Given the description of an element on the screen output the (x, y) to click on. 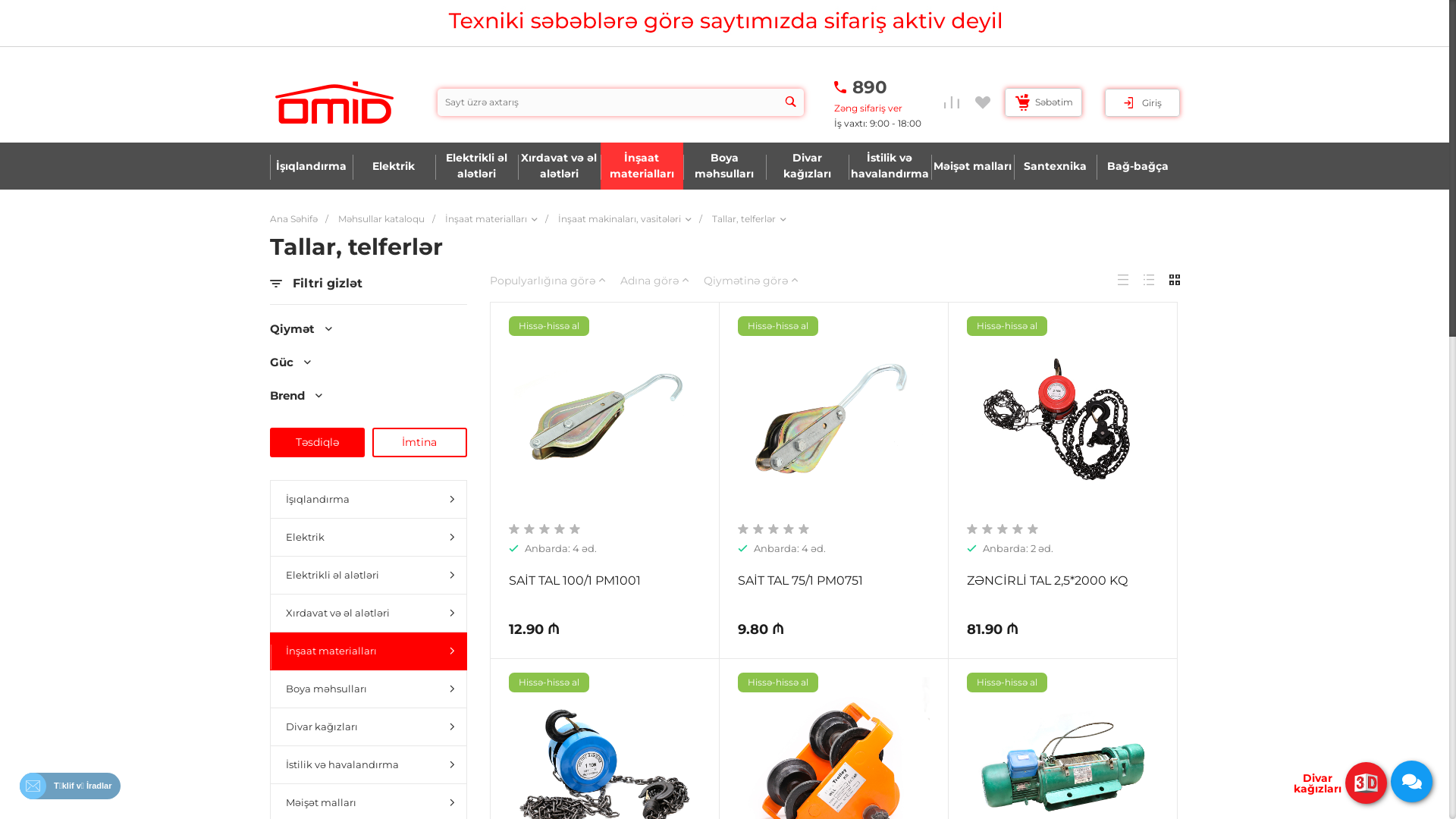
Elektrik Element type: text (367, 536)
5 Element type: hover (1032, 528)
4 Element type: hover (1017, 528)
1 Element type: hover (513, 528)
Elektrik Element type: text (392, 165)
3 Element type: hover (773, 528)
4 Element type: hover (559, 528)
4 Element type: hover (788, 528)
1 Element type: hover (971, 528)
Omid_PNG.png Element type: hover (334, 102)
Brend Element type: text (368, 395)
mail Element type: hover (32, 785)
5 Element type: hover (803, 528)
1 Element type: hover (742, 528)
3 Element type: hover (544, 528)
2 Element type: hover (757, 528)
5 Element type: hover (574, 528)
3 Element type: hover (1002, 528)
2 Element type: hover (986, 528)
2 Element type: hover (528, 528)
Santexnika Element type: text (1054, 165)
890 Element type: text (869, 87)
